Given the description of an element on the screen output the (x, y) to click on. 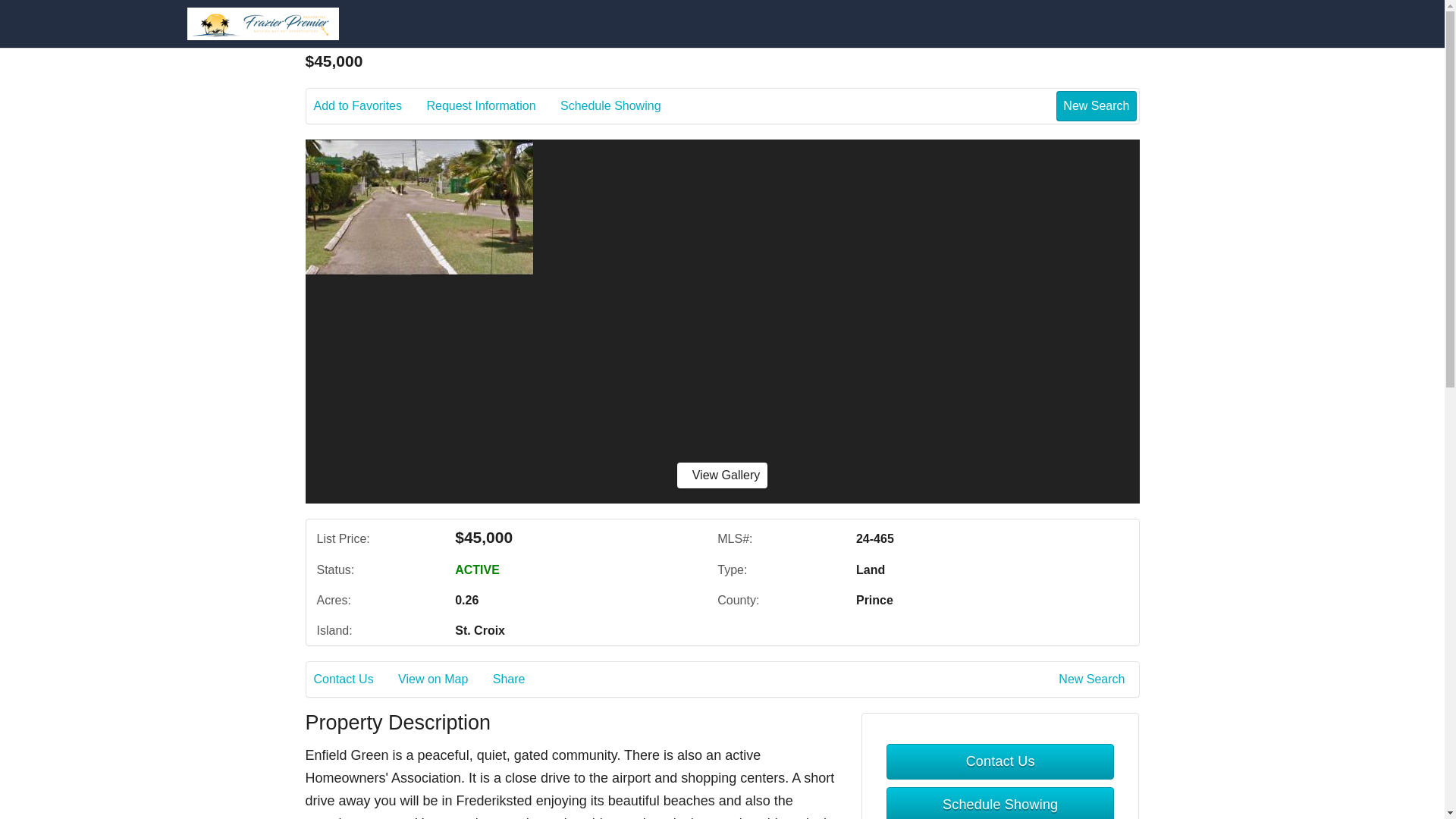
New Search (1096, 105)
View Gallery (722, 474)
Share (520, 679)
Schedule Showing (621, 106)
Contact Us (999, 761)
Contact Us (354, 679)
New Search (1094, 679)
Add to Favorites (368, 106)
Request Information (491, 106)
Schedule Showing (999, 803)
View Gallery (722, 475)
View on Map (443, 679)
